Given the description of an element on the screen output the (x, y) to click on. 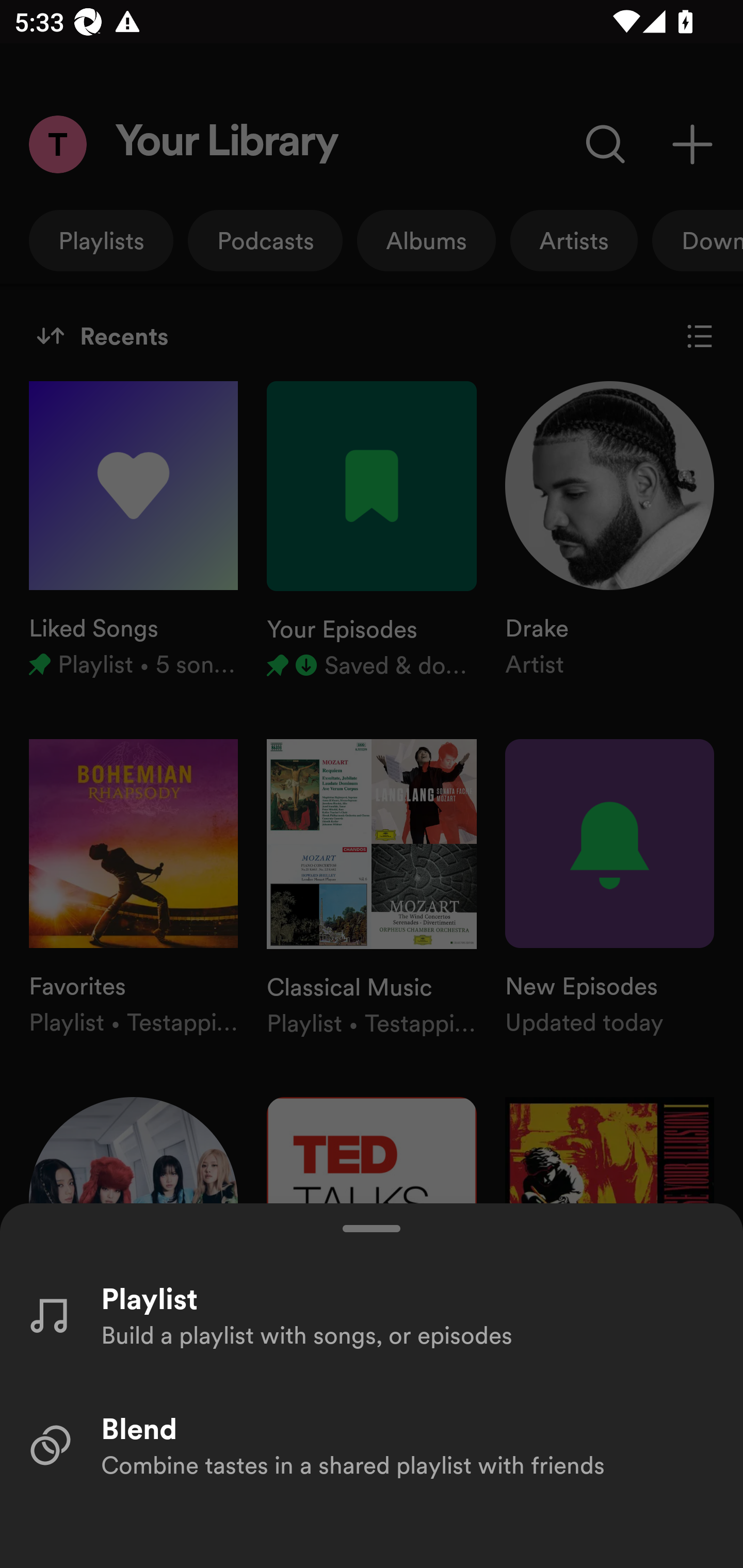
Playlist Build a playlist with songs, or episodes (371, 1314)
